Given the description of an element on the screen output the (x, y) to click on. 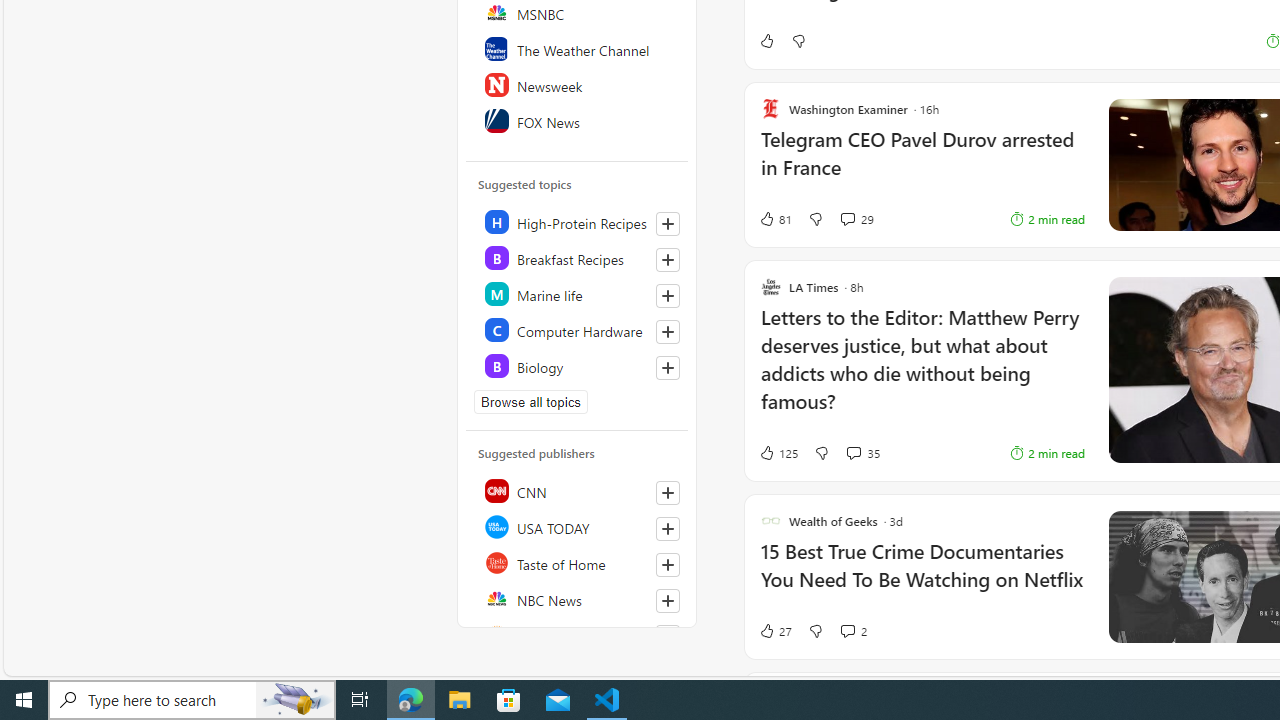
NBC News (578, 598)
Browse all topics (530, 401)
View comments 2 Comment (847, 630)
Telegram CEO Pavel Durov arrested in France (922, 164)
Reuters (578, 634)
FOX News (578, 120)
Class: highlight (578, 365)
View comments 35 Comment (852, 452)
View comments 29 Comment (855, 219)
